Given the description of an element on the screen output the (x, y) to click on. 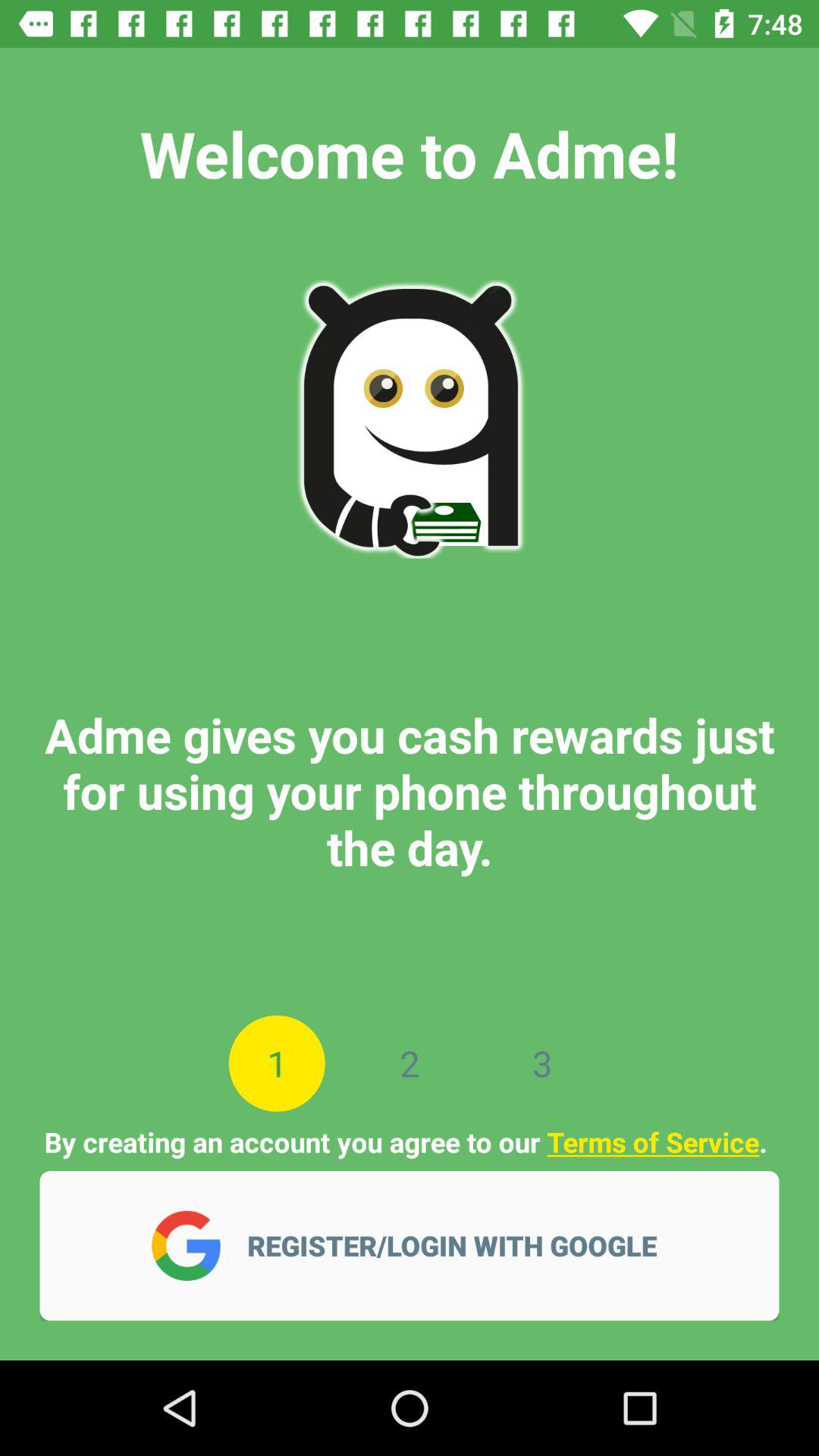
click 3 item (542, 1063)
